Given the description of an element on the screen output the (x, y) to click on. 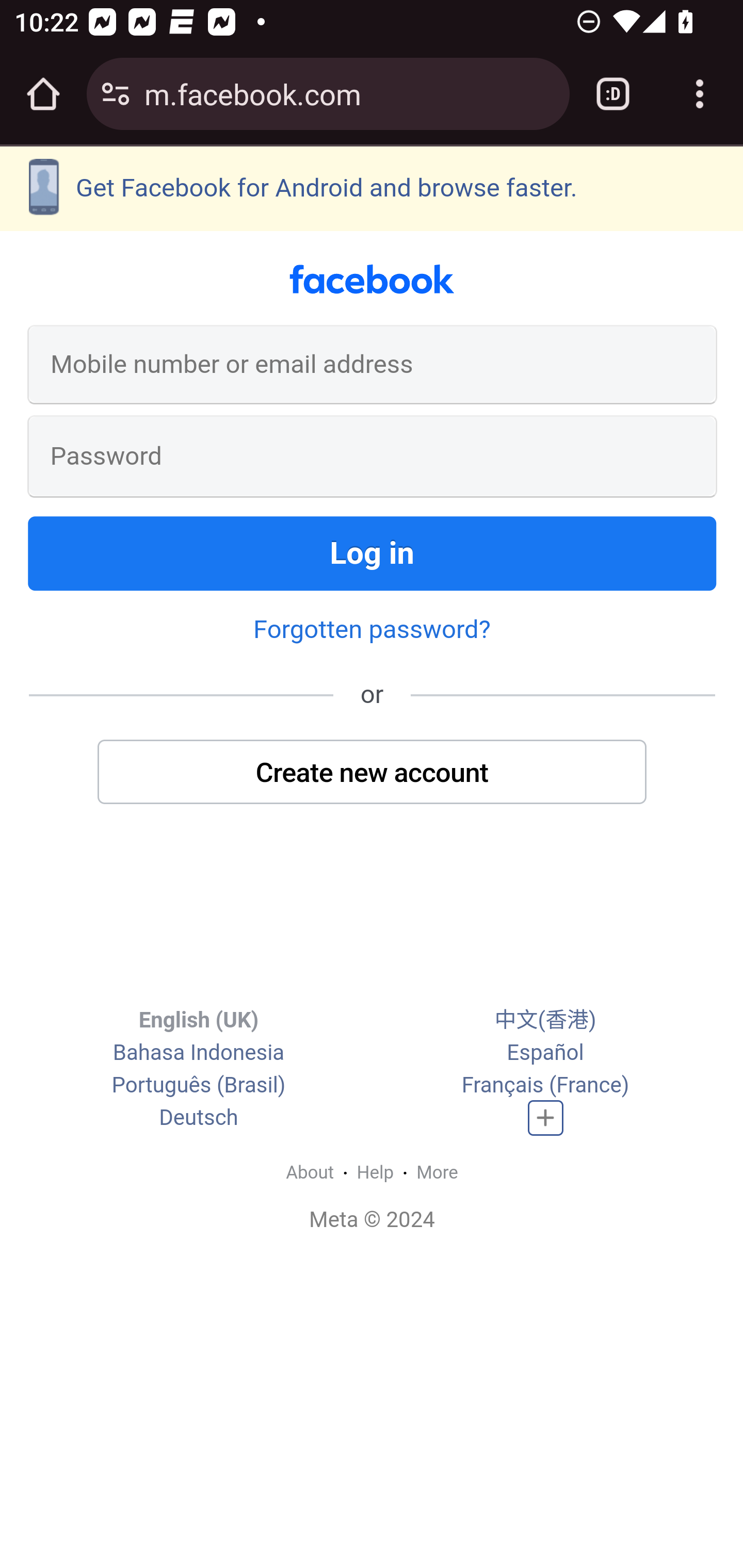
Open the home page (43, 93)
Connection is secure (115, 93)
Switch or close tabs (612, 93)
Customize and control Google Chrome (699, 93)
m.facebook.com (349, 92)
Get Facebook for Android and browse faster. (371, 188)
facebook (372, 279)
Log in (372, 552)
Forgotten password? (371, 628)
Create new account (372, 771)
中文(香港) (544, 1020)
Bahasa Indonesia (198, 1052)
Español (545, 1052)
Português (Brasil) (197, 1085)
Français (France) (544, 1085)
Complete list of languages (545, 1117)
Deutsch (198, 1118)
About (310, 1171)
Help (375, 1171)
